Given the description of an element on the screen output the (x, y) to click on. 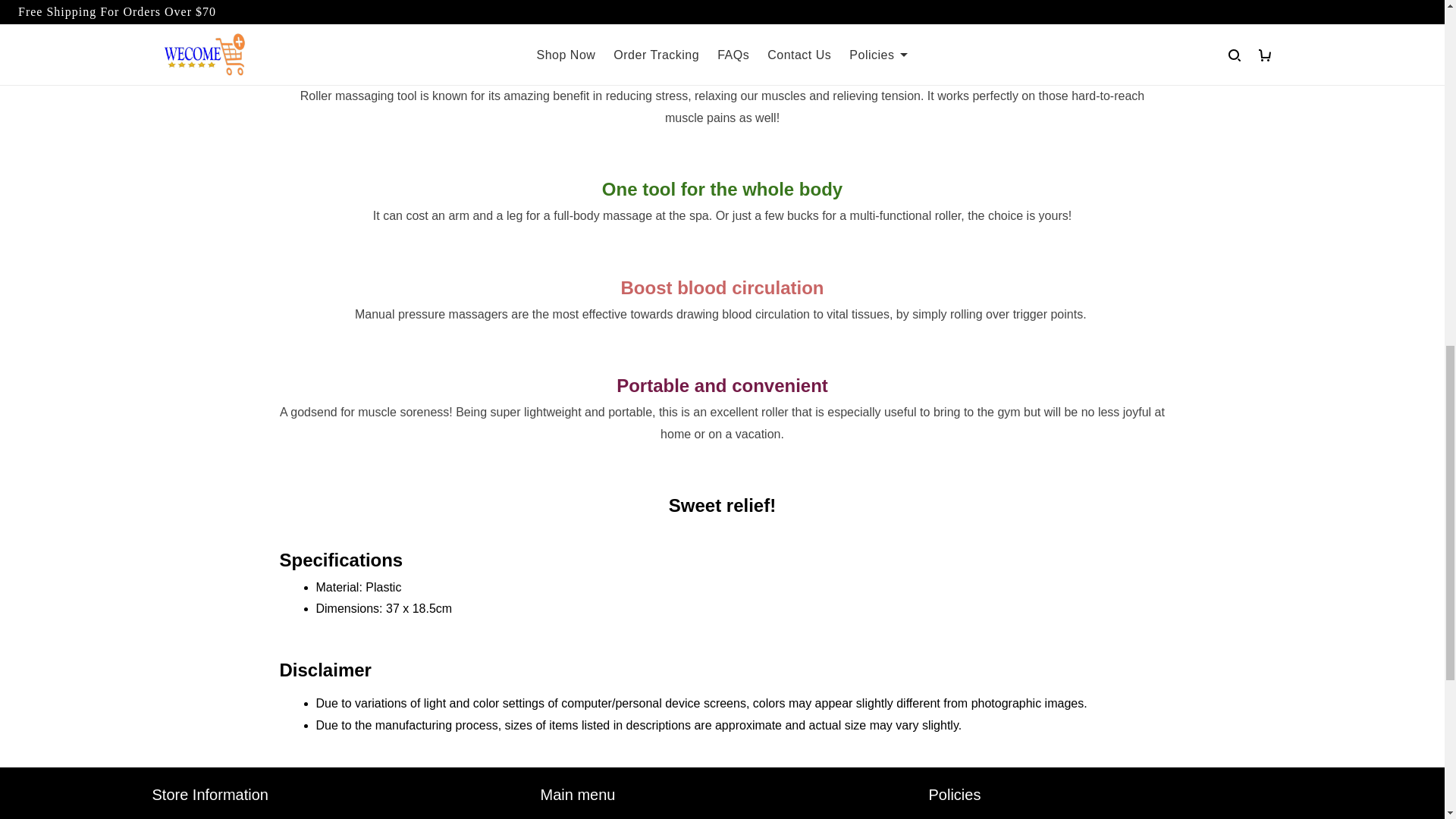
Shop Now (567, 818)
